Given the description of an element on the screen output the (x, y) to click on. 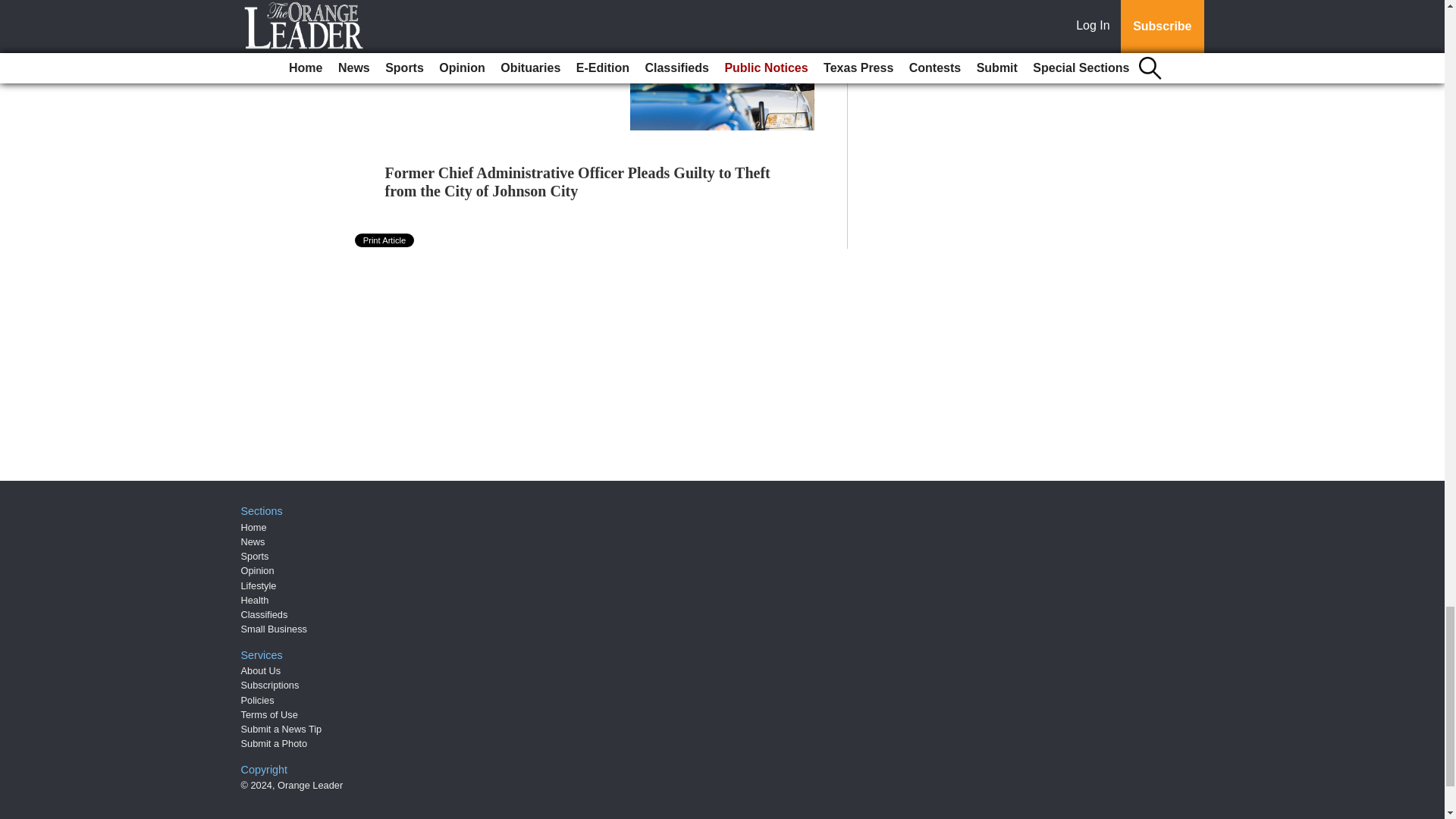
Groves police reports, Week of June 19-25 (484, 44)
Print Article (384, 240)
Groves police reports, Week of June 19-25 (484, 44)
